Given the description of an element on the screen output the (x, y) to click on. 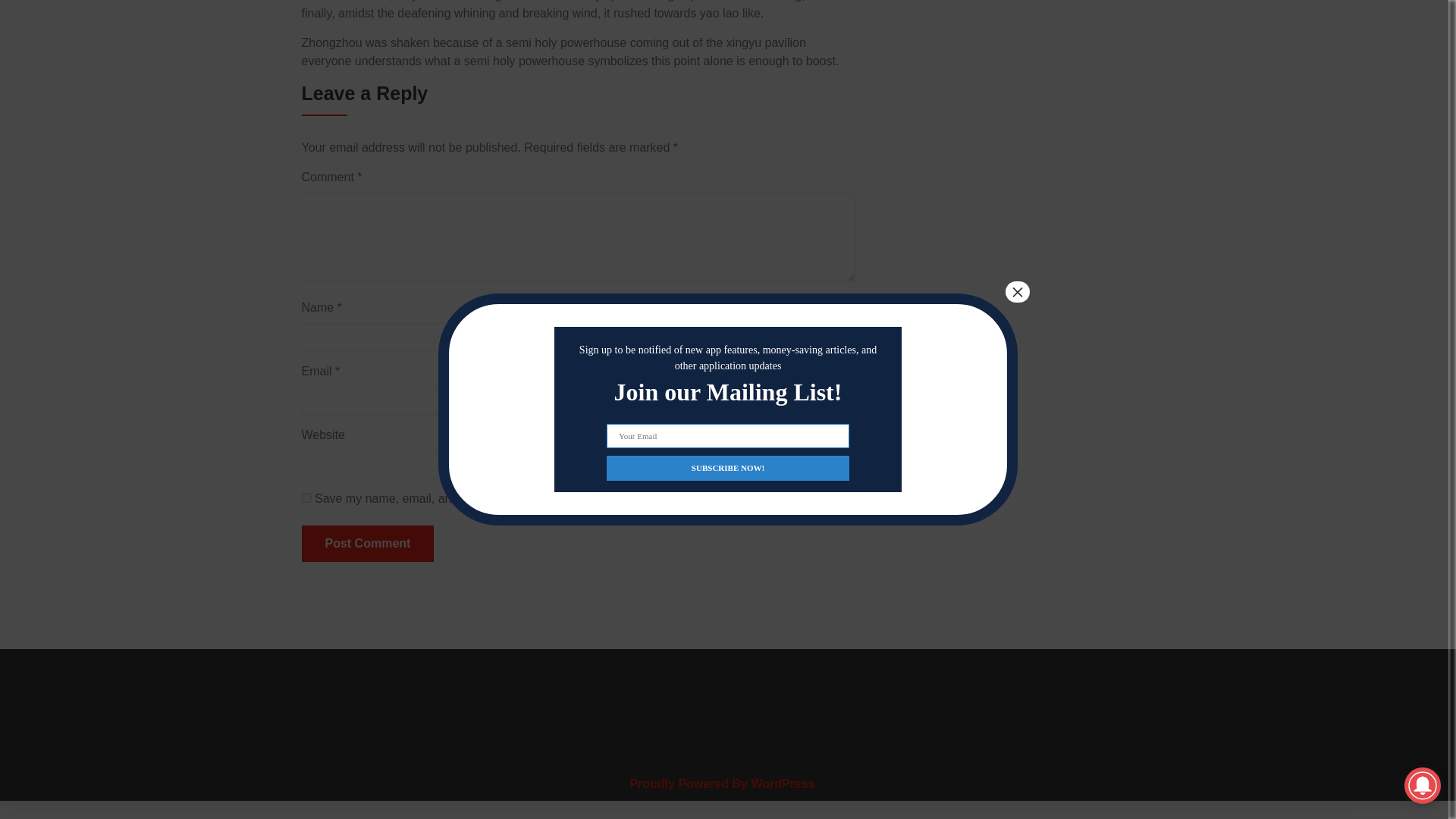
Post Comment (367, 543)
